Given the description of an element on the screen output the (x, y) to click on. 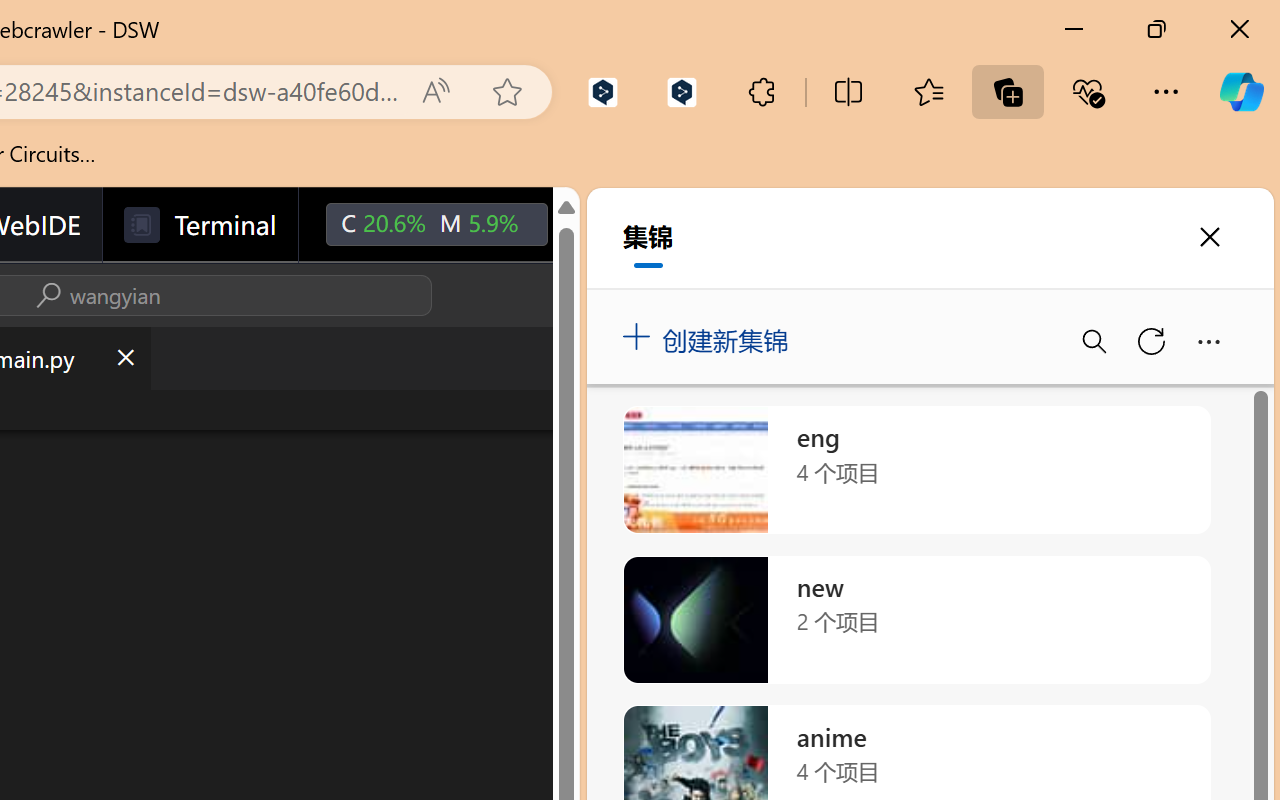
Close (Ctrl+F4) (124, 358)
Class: next-menu next-hoz widgets--iconMenu--BFkiHRM (591, 225)
